Given the description of an element on the screen output the (x, y) to click on. 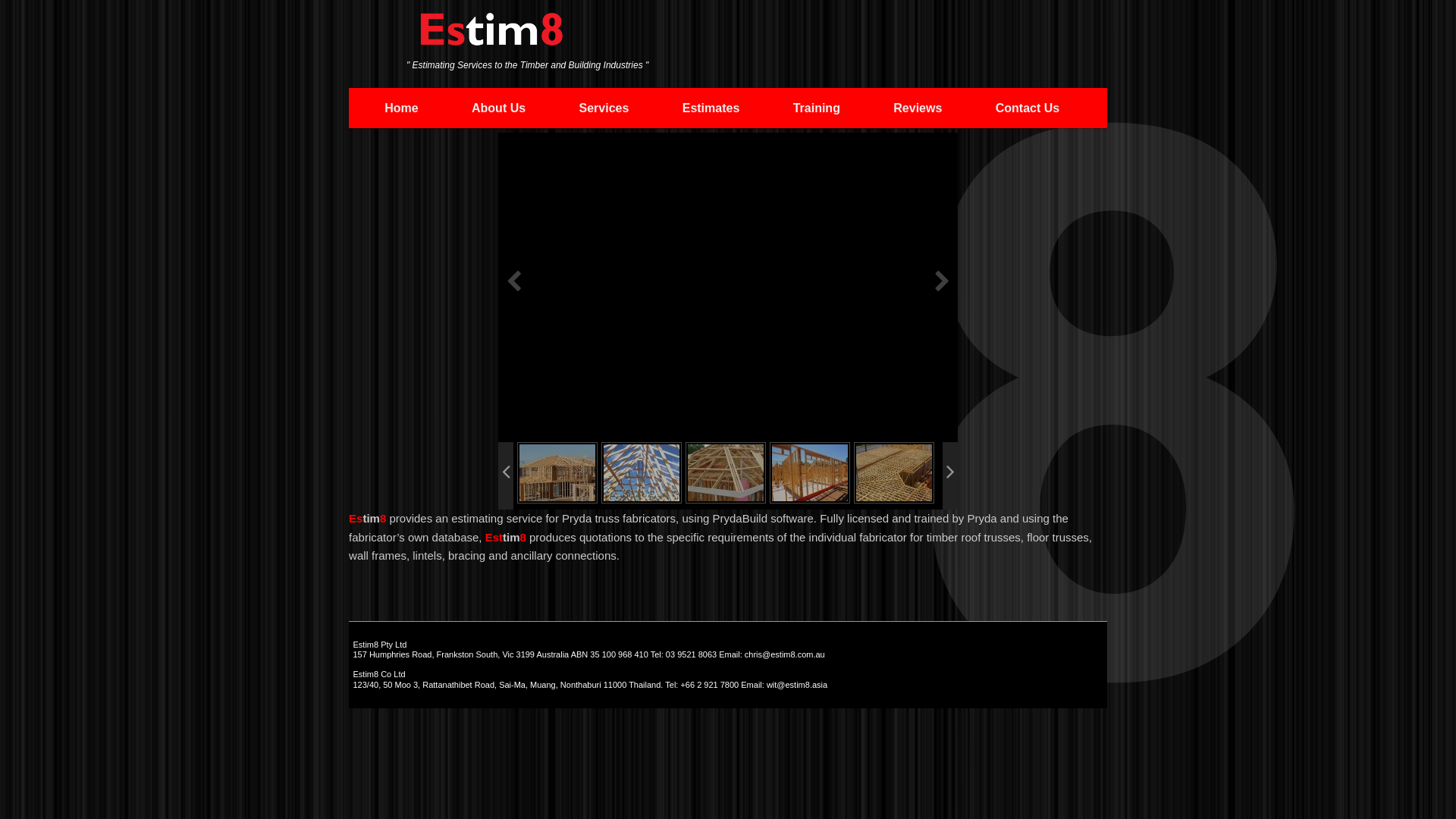
Skip to secondary content Element type: text (463, 106)
Home Element type: text (401, 107)
Reviews Element type: text (917, 107)
Estim8 Element type: hover (491, 36)
Training Element type: text (815, 107)
Services Element type: text (603, 107)
Slide Left Element type: hover (505, 475)
About Us Element type: text (498, 107)
Estimates Element type: text (710, 107)
Contact Us Element type: text (1027, 107)
Slide Right Element type: hover (949, 475)
Skip to primary content Element type: text (456, 106)
